Given the description of an element on the screen output the (x, y) to click on. 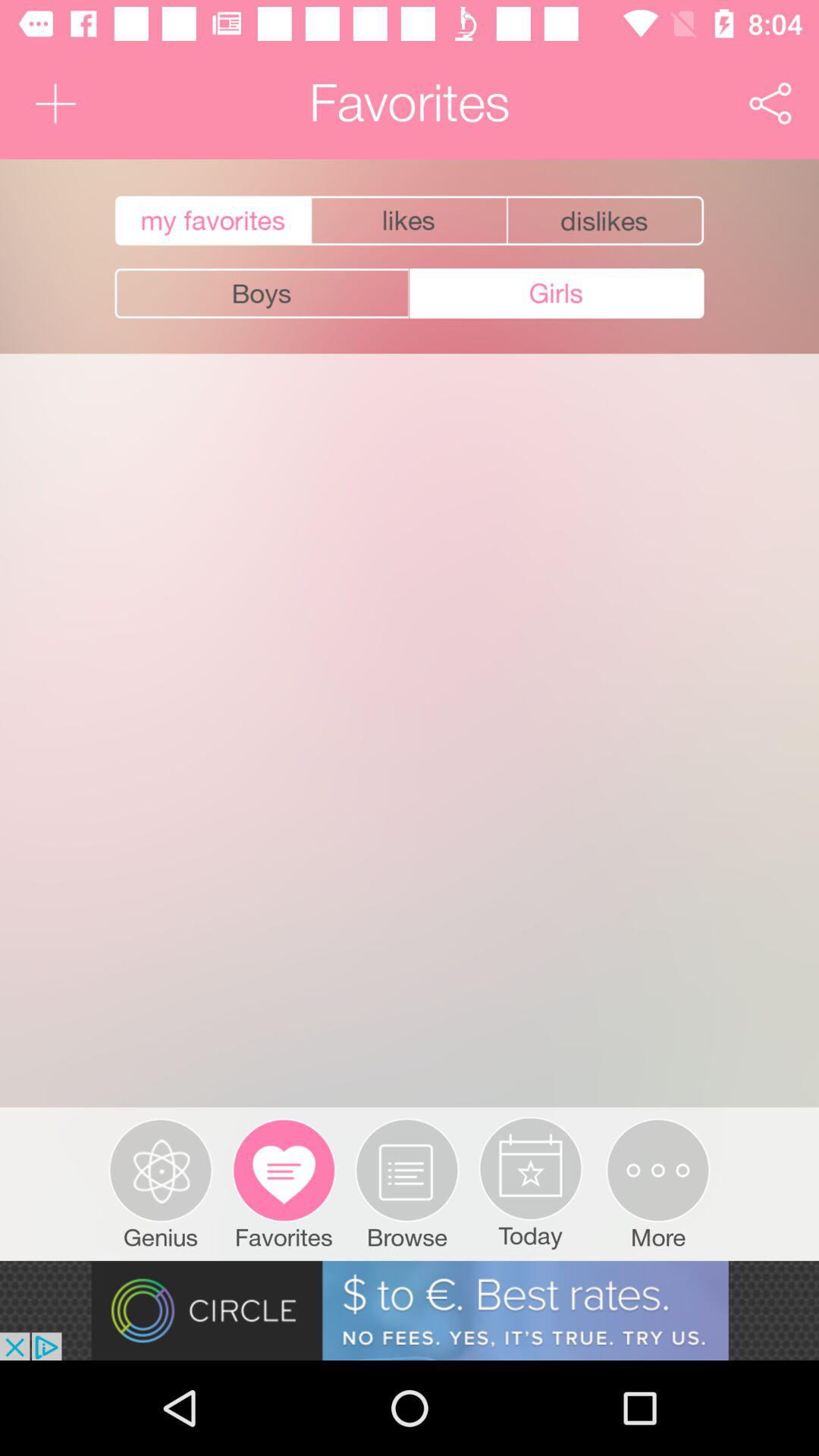
view favorites (211, 220)
